Given the description of an element on the screen output the (x, y) to click on. 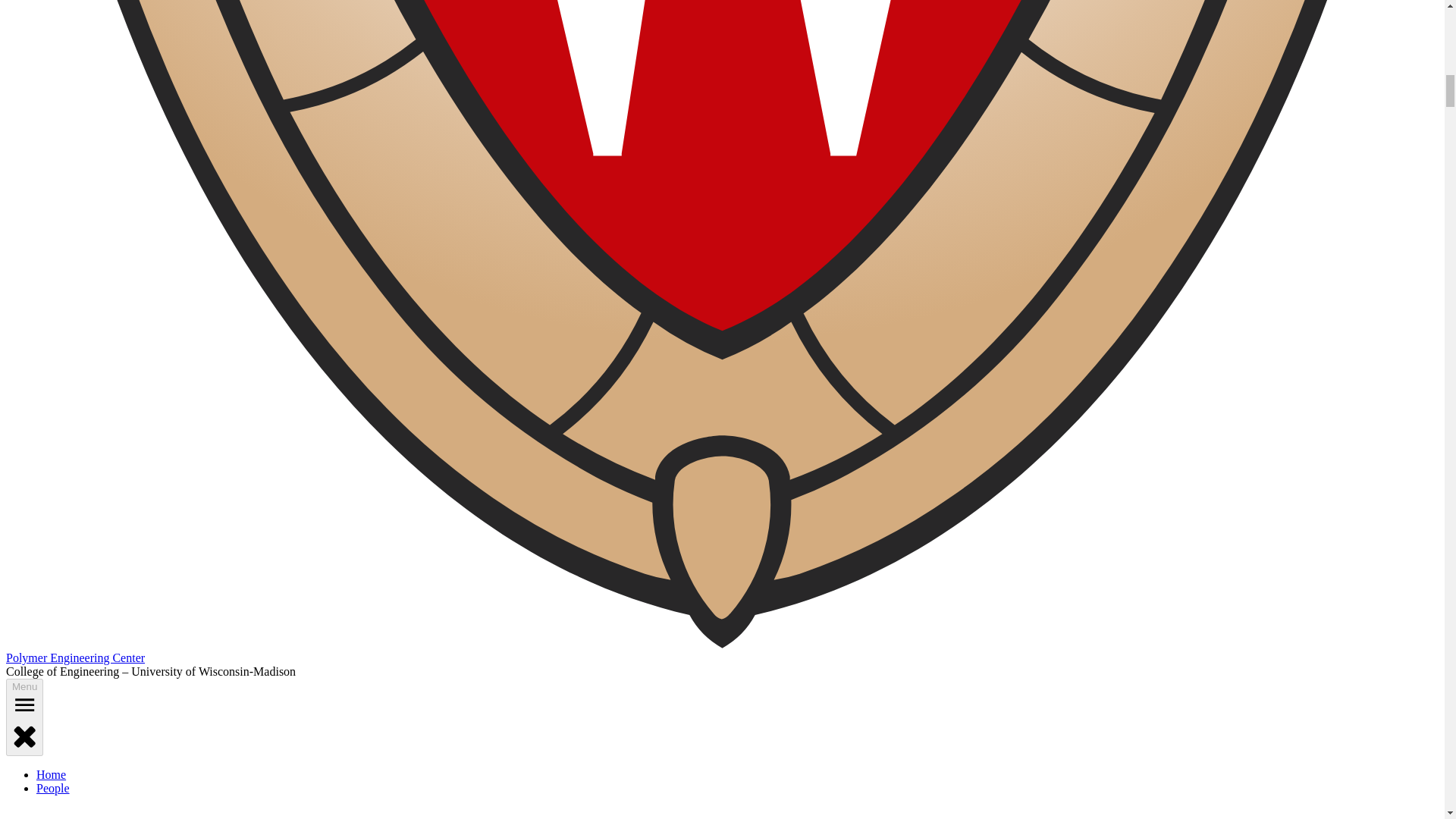
Home (50, 774)
Polymer Engineering Center (74, 657)
close (24, 735)
open menu (24, 704)
Menu open menu close (24, 717)
